Given the description of an element on the screen output the (x, y) to click on. 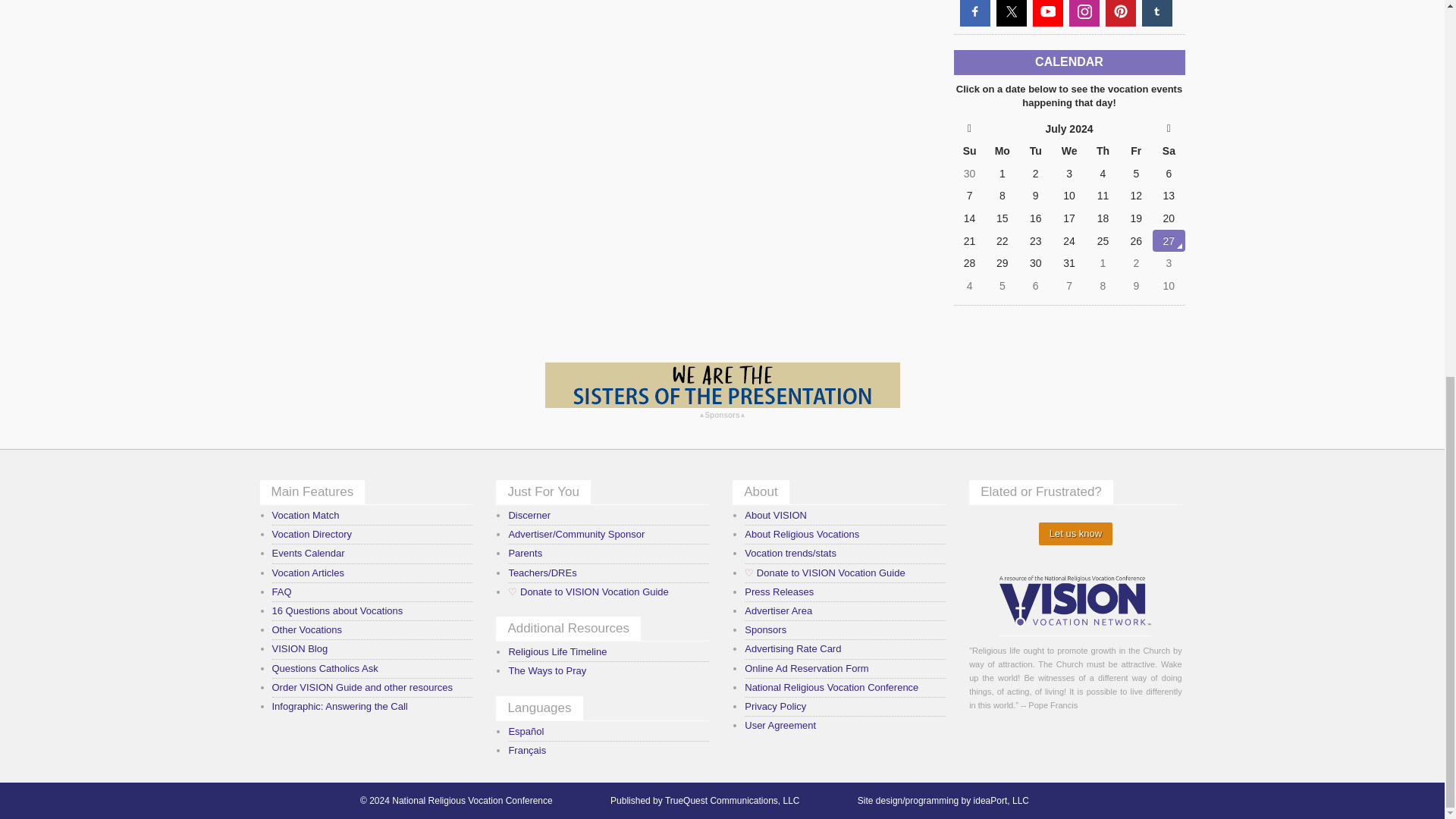
Select Month (1069, 128)
Conference of Presentation Sisters (721, 384)
